Given the description of an element on the screen output the (x, y) to click on. 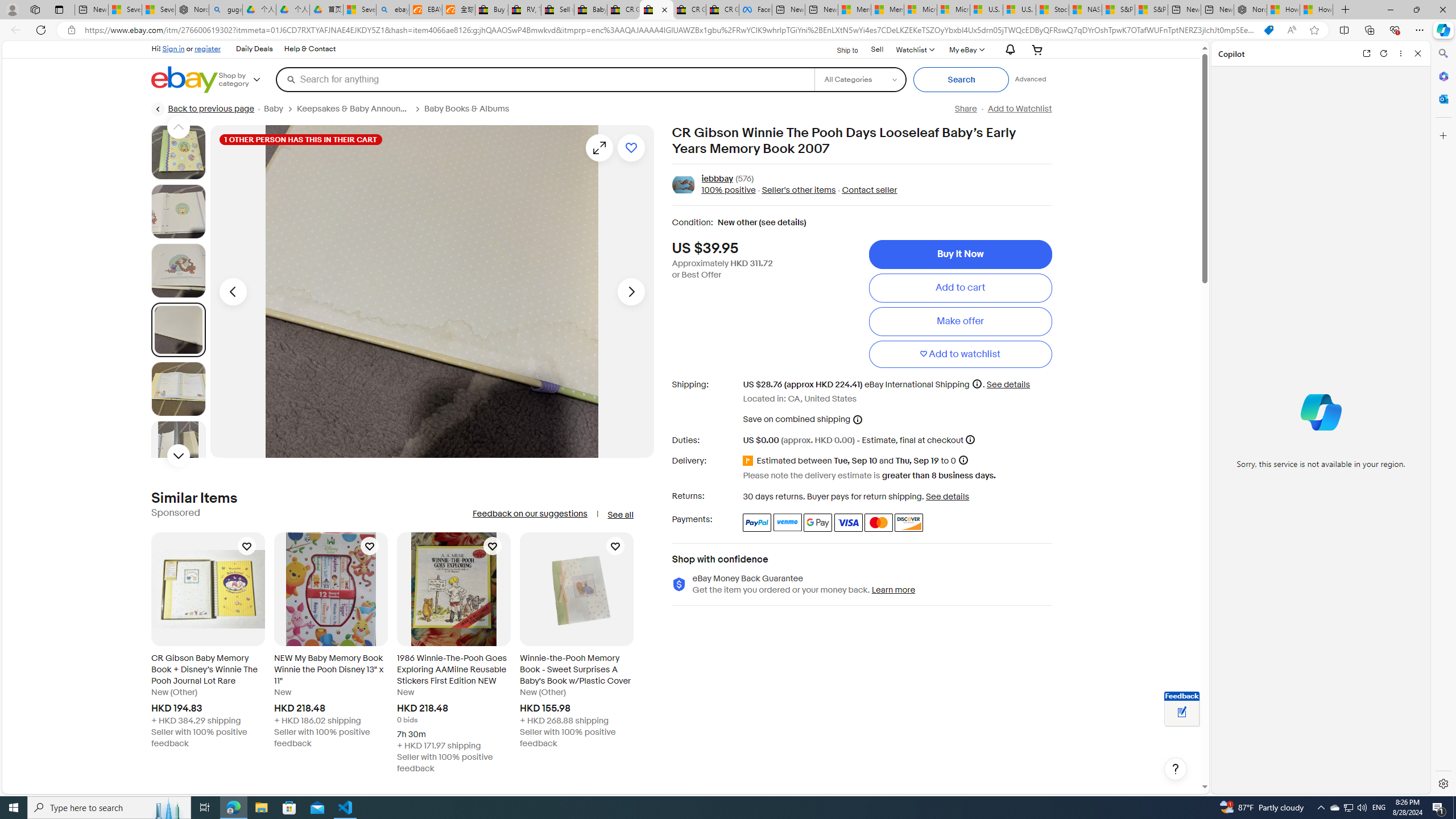
Help & Contact (309, 49)
Buy Auto Parts & Accessories | eBay (491, 9)
Select a category for search (859, 78)
Picture 3 of 22 (178, 270)
Make offer (959, 320)
Notifications (1007, 49)
register (207, 48)
Help & Contact (309, 49)
Visa (848, 521)
  Contact seller (865, 190)
